Given the description of an element on the screen output the (x, y) to click on. 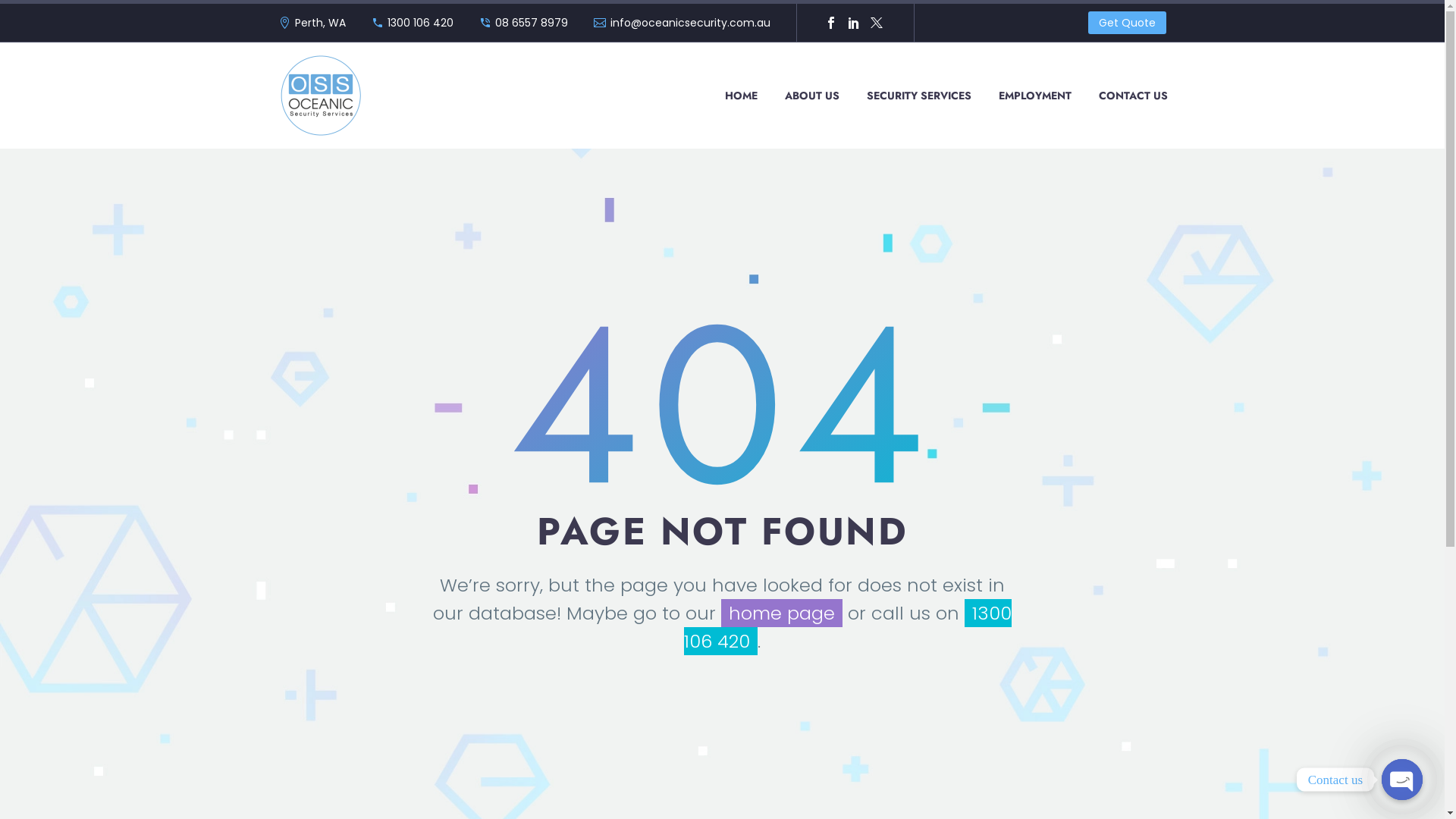
CONTACT US Element type: text (1133, 95)
Twitter Element type: hover (876, 22)
home page Element type: text (781, 613)
SECURITY SERVICES Element type: text (918, 95)
1300 106 420 Element type: text (847, 627)
Facebook Element type: hover (830, 22)
EMPLOYMENT Element type: text (1034, 95)
info@oceanicsecurity.com.au Element type: text (690, 22)
HOME Element type: text (740, 95)
LinkedIn Element type: hover (853, 22)
1300 106 420 Element type: text (420, 22)
Get Quote Element type: text (1126, 22)
ABOUT US Element type: text (811, 95)
